Given the description of an element on the screen output the (x, y) to click on. 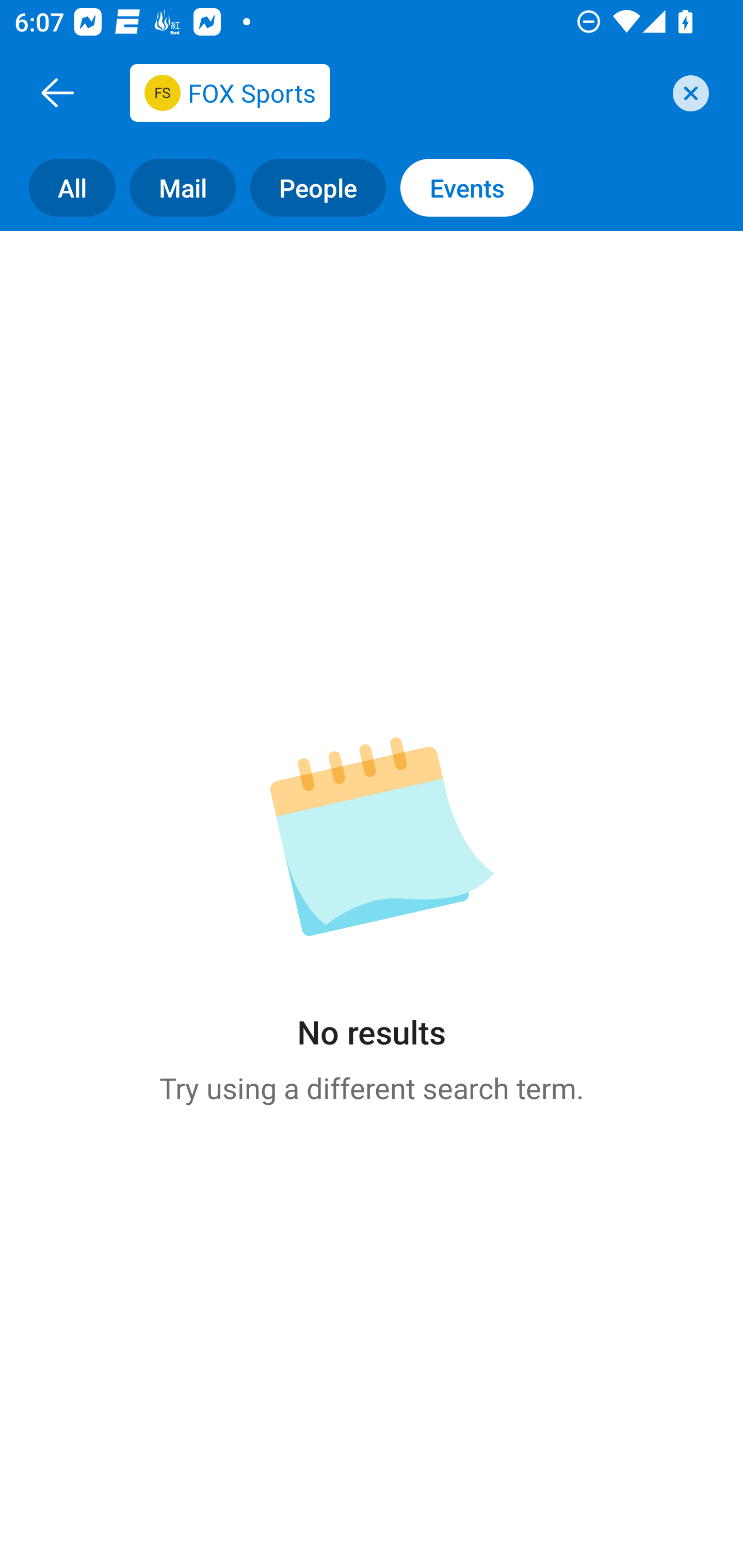
Back (57, 92)
email@inbox.foxsports.com  (394, 92)
clear search (687, 93)
All (57, 187)
Mail (175, 187)
People (310, 187)
